Given the description of an element on the screen output the (x, y) to click on. 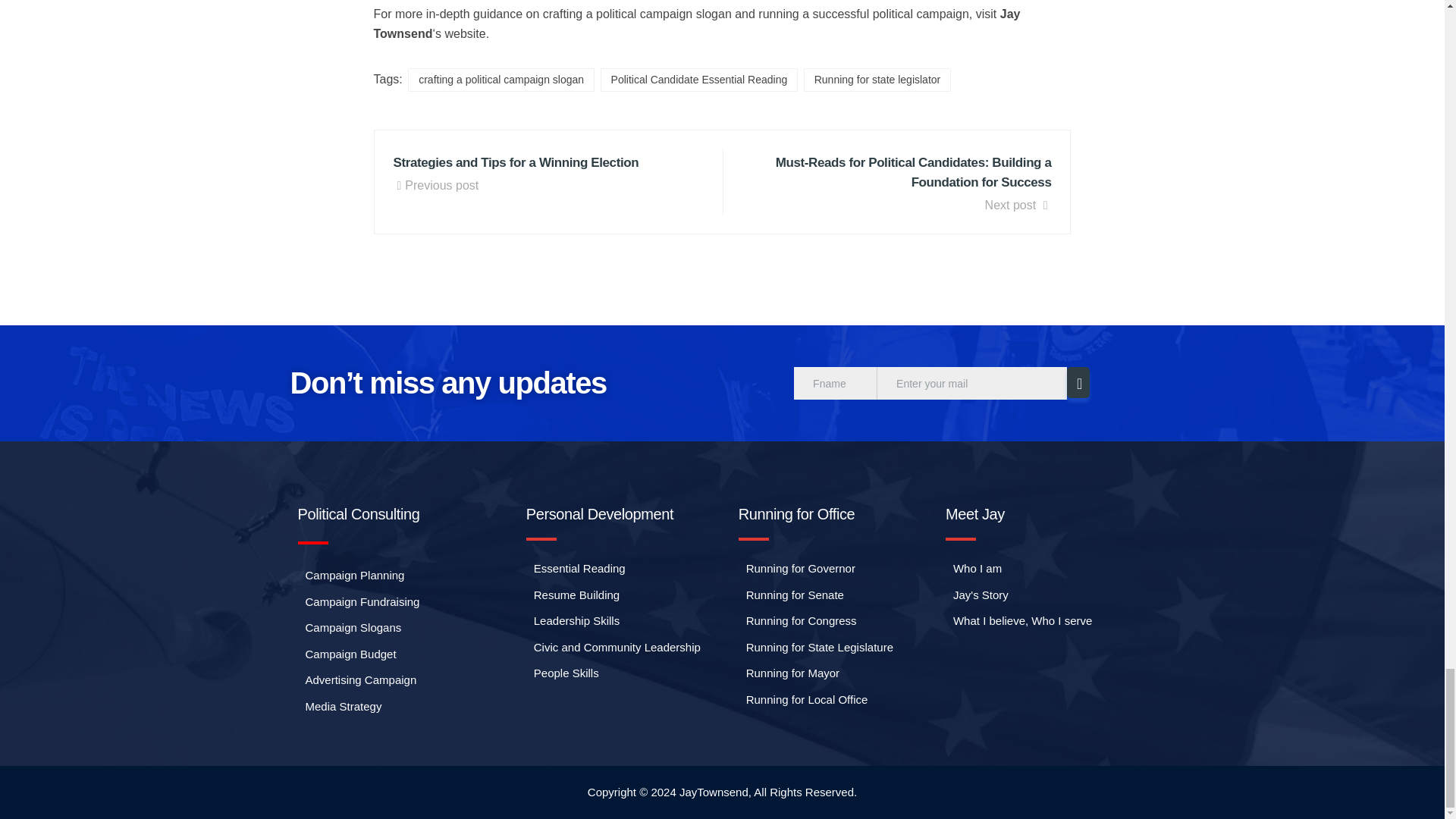
Campaign Slogans (349, 628)
Advertising Campaign (356, 680)
Resume Building (572, 595)
Campaign Planning (350, 575)
Essential Reading (575, 569)
Media Strategy (339, 706)
People Skills (561, 673)
Leadership Skills (572, 620)
Civic and Community Leadership (612, 647)
Running for state legislator (877, 79)
Campaign Budget (346, 654)
crafting a political campaign slogan (500, 79)
Campaign Fundraising (358, 601)
Political Candidate Essential Reading (698, 79)
